Given the description of an element on the screen output the (x, y) to click on. 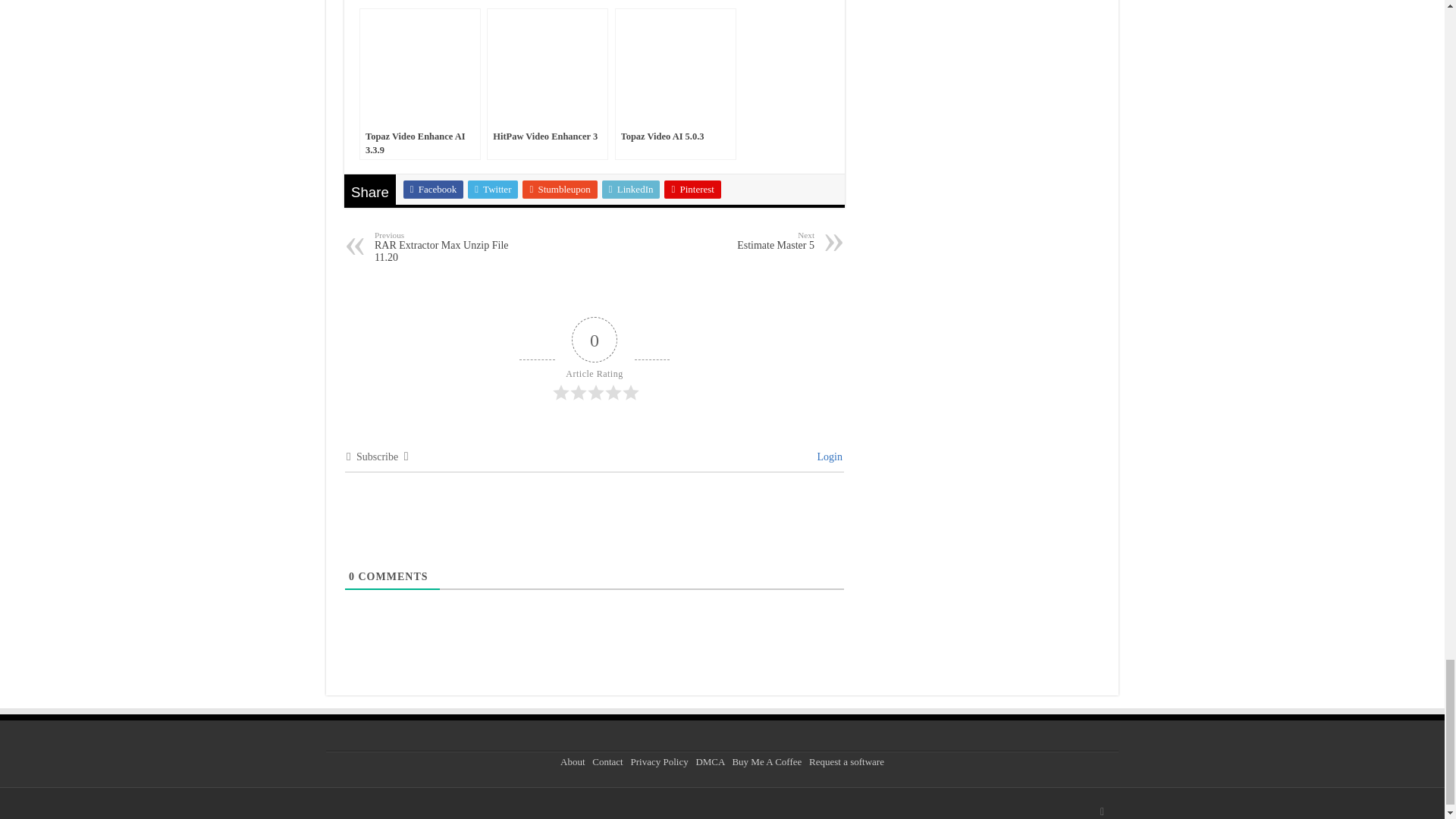
Stumbleupon (559, 189)
Twitter (492, 189)
Facebook (433, 189)
Login (827, 456)
LinkedIn (631, 189)
Pinterest (691, 189)
